Given the description of an element on the screen output the (x, y) to click on. 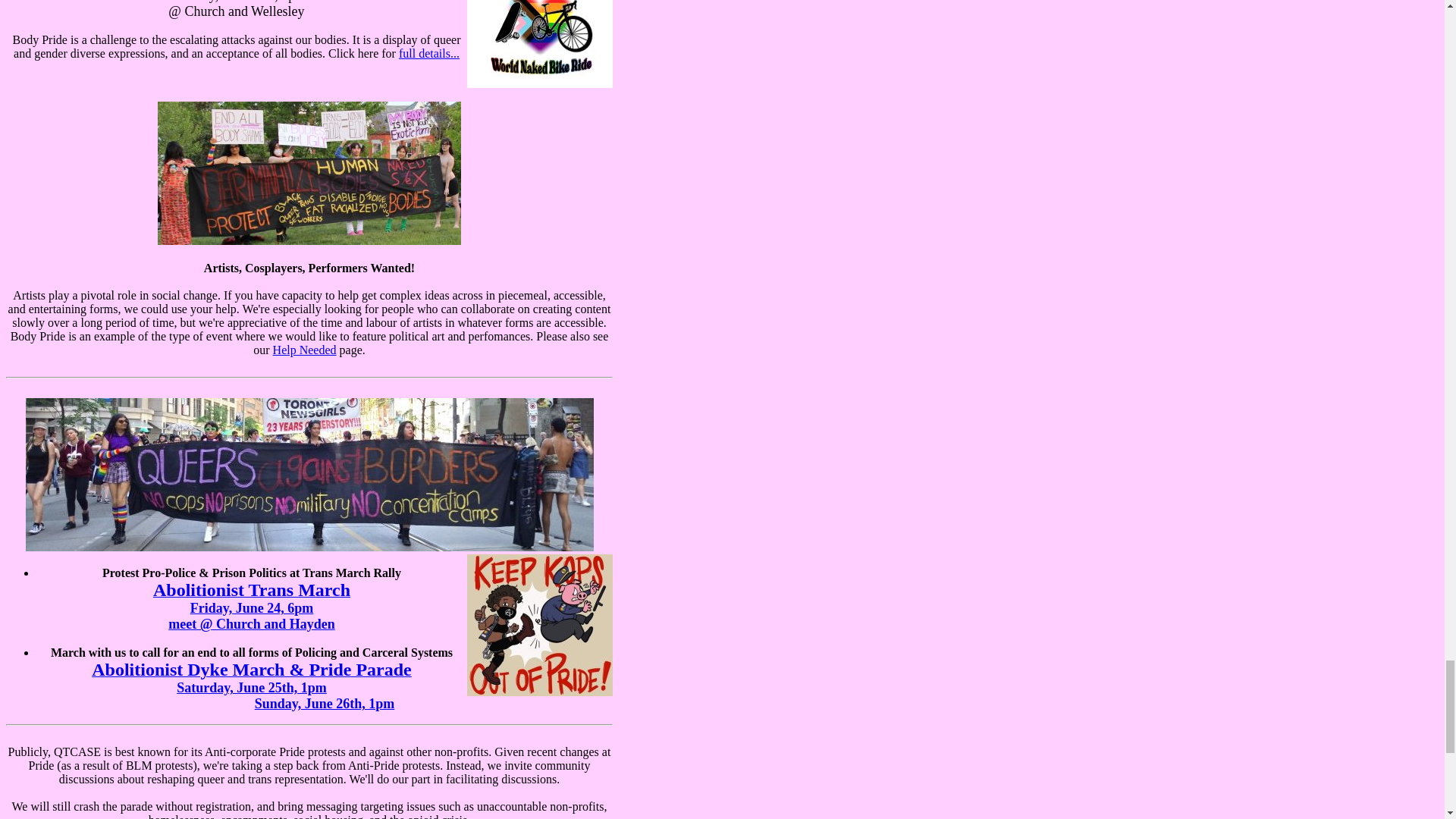
Help Needed (304, 349)
full details... (429, 52)
